Given the description of an element on the screen output the (x, y) to click on. 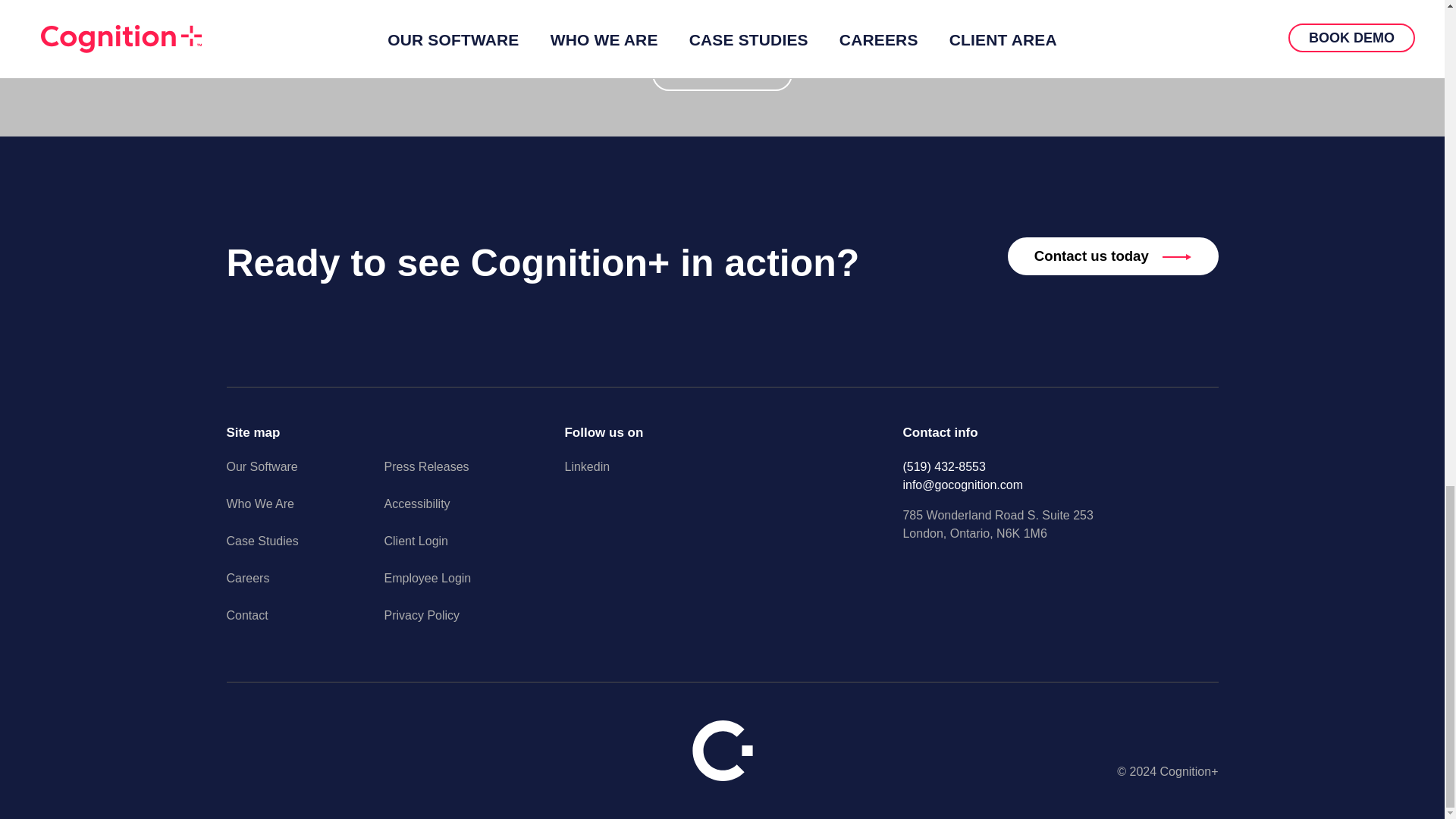
Employee Login (462, 587)
Contact (304, 624)
Press Releases (462, 476)
Careers (304, 587)
Privacy Policy (462, 624)
Our Software (304, 476)
Client Login (462, 550)
Accessibility (462, 513)
Who We Are (304, 513)
Linkedin (721, 476)
Discover (722, 73)
Case Studies (304, 550)
